Given the description of an element on the screen output the (x, y) to click on. 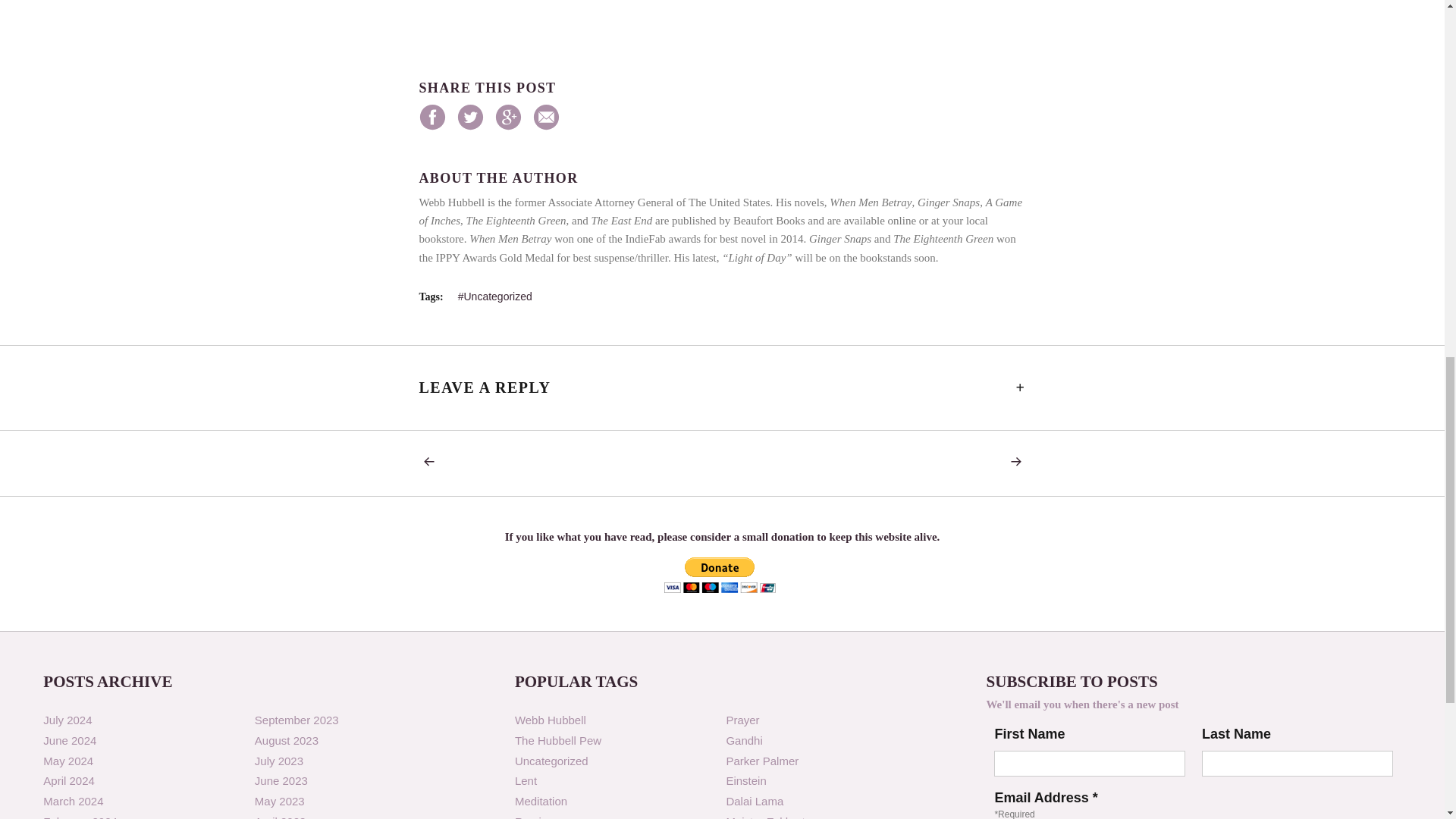
Uncategorized (551, 760)
Meditation Tag (541, 800)
May 2023 (279, 800)
Gandhi Tag (743, 739)
Meditation (541, 800)
Dalai Lama Tag (754, 800)
NEXT POST: CALM (1011, 462)
Meister Eckhart Tag (765, 816)
September 2023 (296, 719)
August 2023 (286, 739)
Einstein Tag (745, 780)
June 2023 (280, 780)
May 2024 (68, 760)
April 2024 (68, 780)
April 2023 (279, 816)
